Given the description of an element on the screen output the (x, y) to click on. 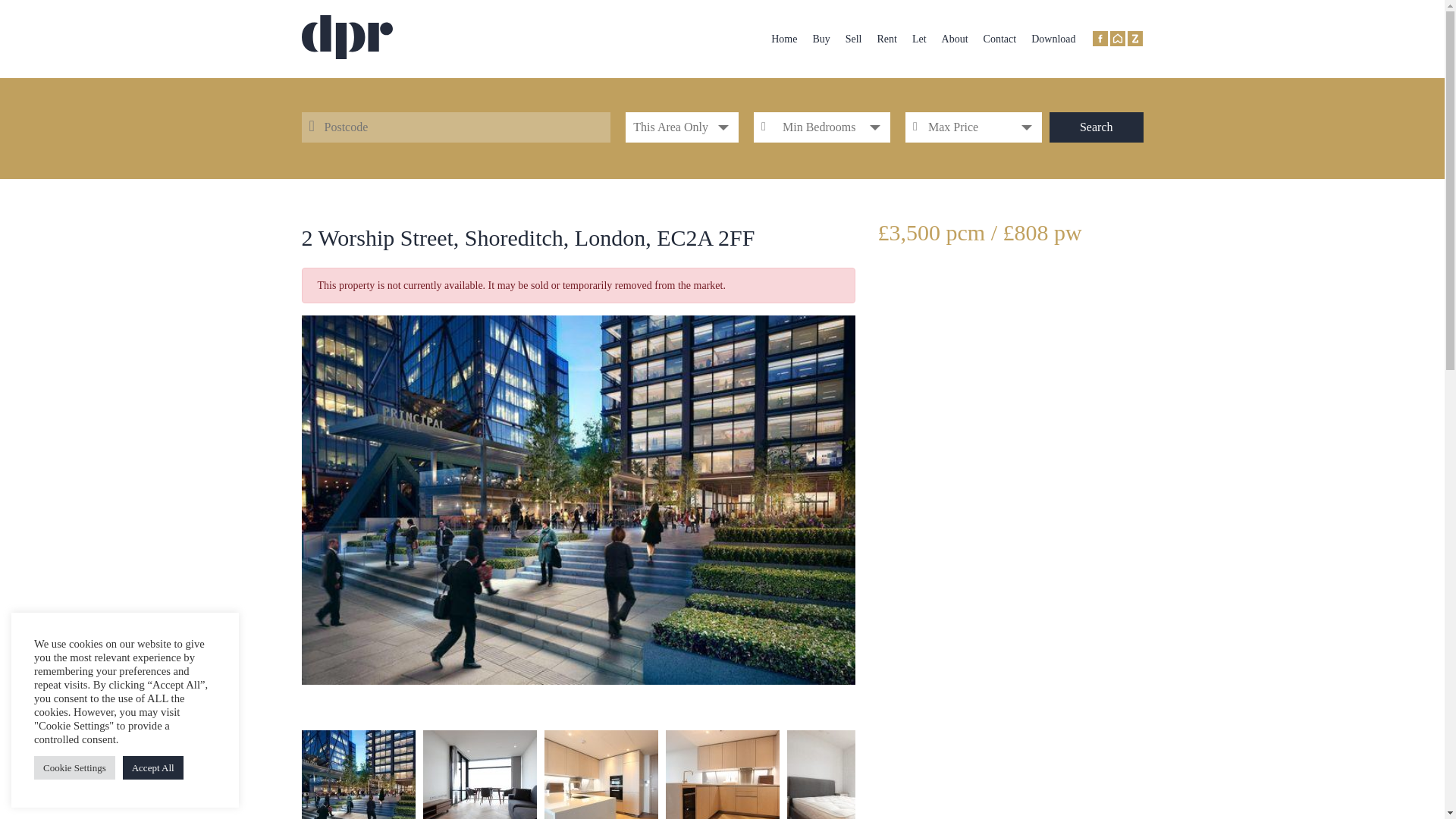
Download (1052, 38)
Buy (820, 38)
Sell (853, 38)
Let (919, 38)
Contact (1000, 38)
Home (783, 38)
Rent (886, 38)
Search (1095, 127)
Search (1095, 127)
About (955, 38)
